Given the description of an element on the screen output the (x, y) to click on. 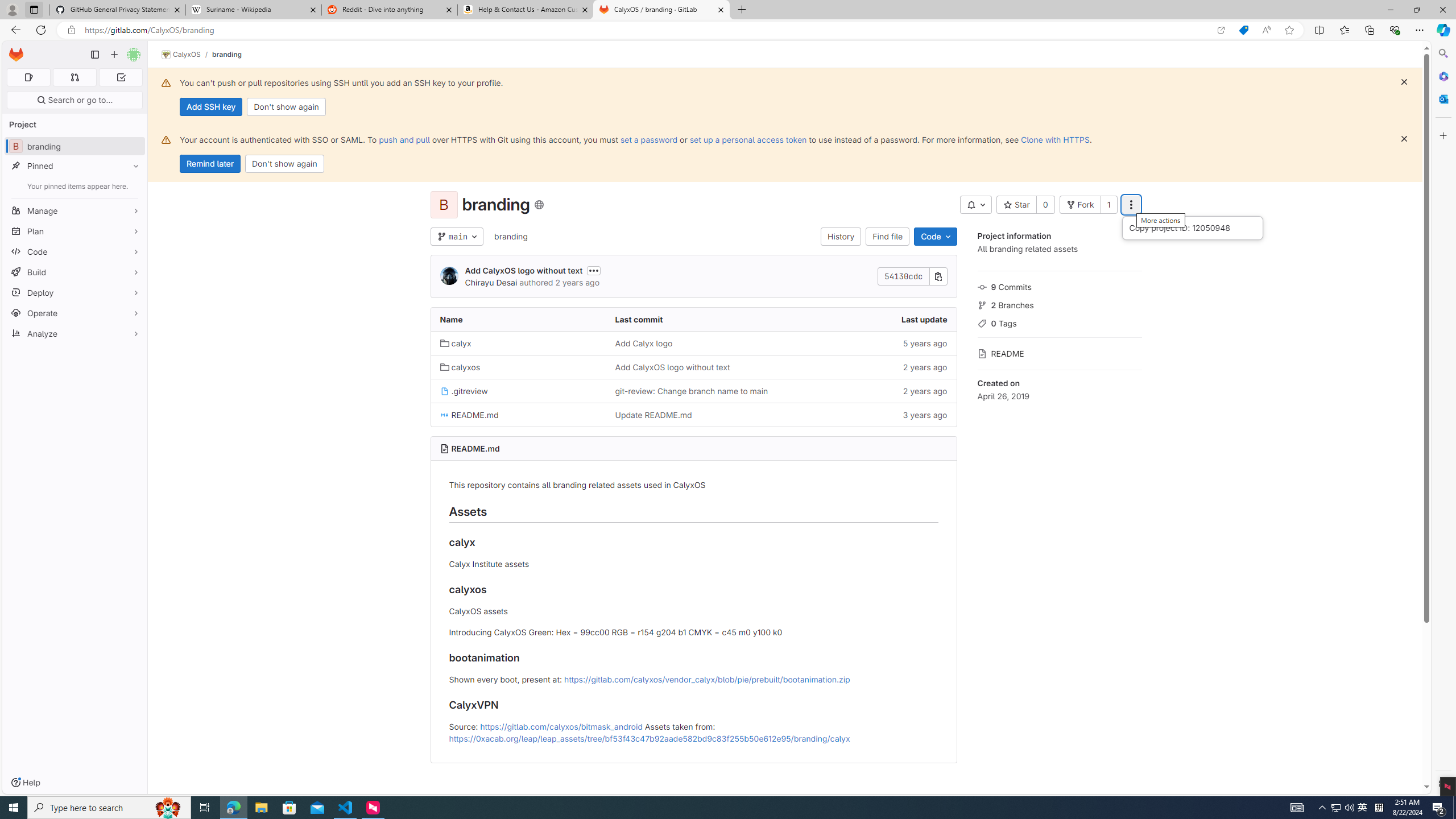
Copy project ID: 12050948 (1192, 227)
Copy project ID: 12050948 (1192, 227)
Operate (74, 312)
 Star (1015, 204)
Update README.md (652, 414)
Class: tree-item (693, 414)
Chirayu Desai's avatar (448, 275)
0 Tags (1058, 322)
.gitreview (517, 390)
git-review: Change branch name to main (691, 390)
GitHub General Privacy Statement - GitHub Docs (117, 9)
Merge requests 0 (74, 76)
